Given the description of an element on the screen output the (x, y) to click on. 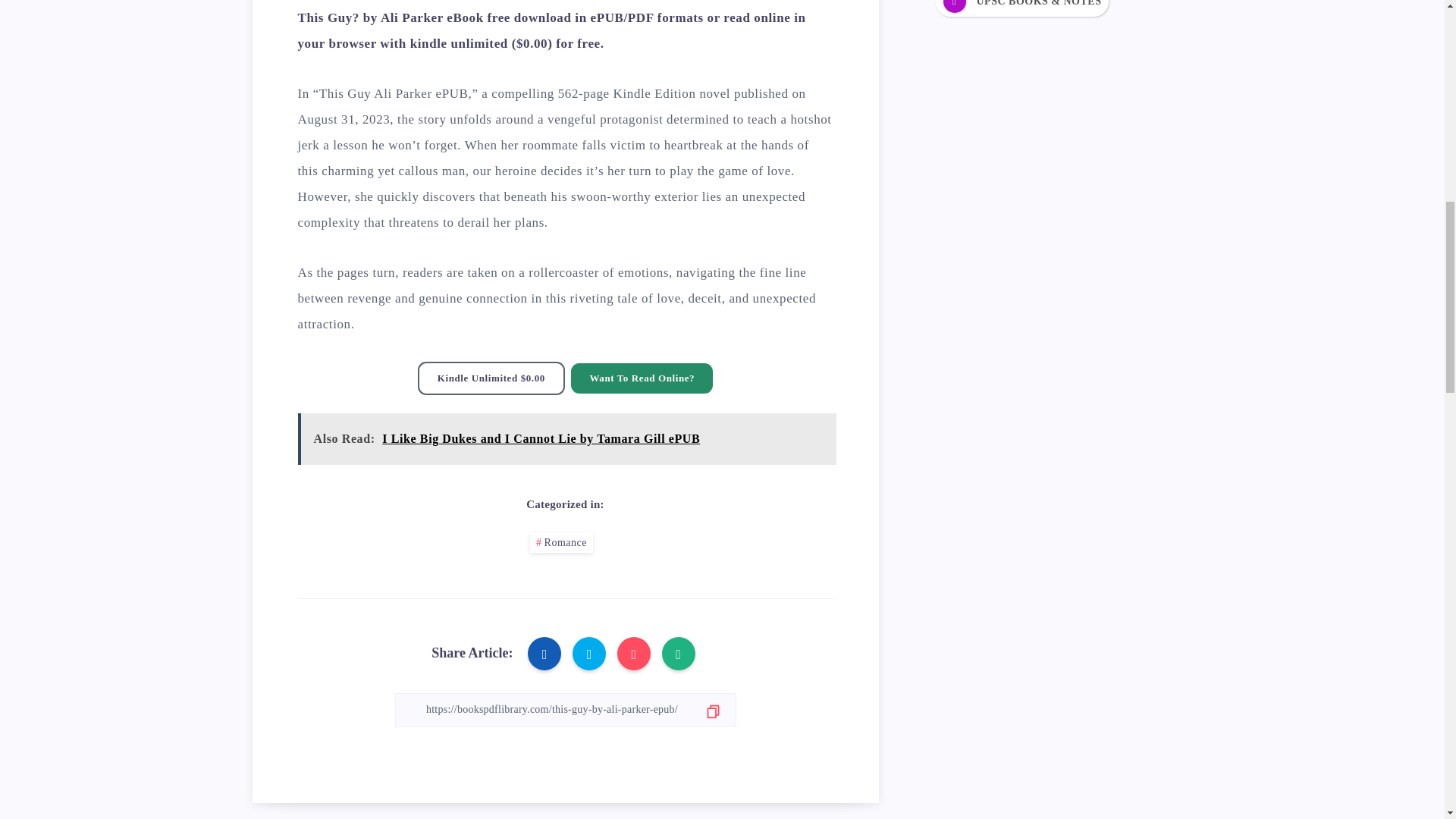
Want To Read Online? (641, 378)
Romance (560, 542)
